Given the description of an element on the screen output the (x, y) to click on. 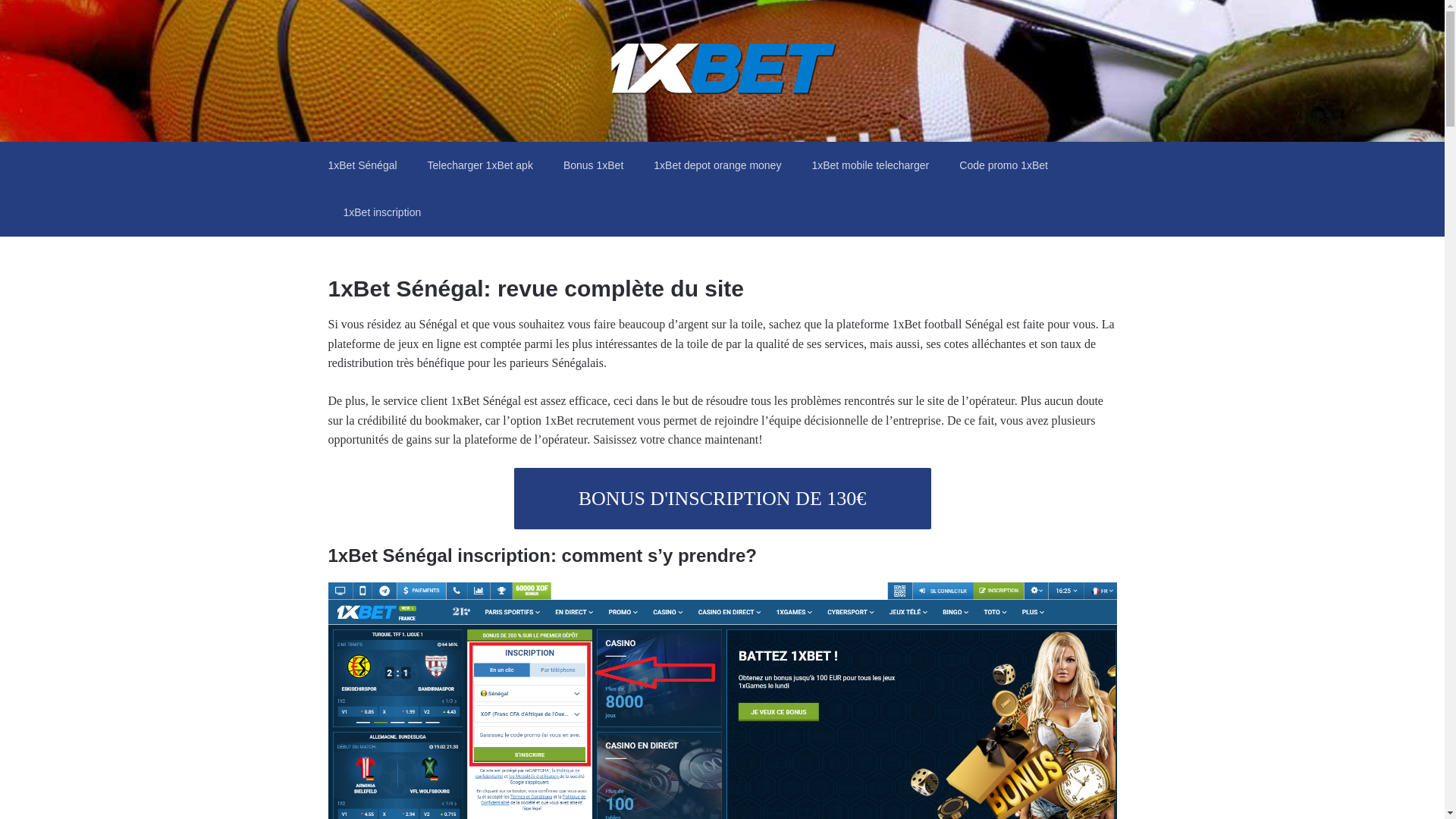
1xBet mobile telecharger Element type: text (870, 164)
1xBet depot orange money Element type: text (717, 164)
1xBet inscription Element type: text (381, 211)
1xbet Senegal Element type: text (424, 121)
Bonus 1xBet Element type: text (593, 164)
Code promo 1xBet Element type: text (1003, 164)
Telecharger 1xBet apk Element type: text (480, 164)
